Given the description of an element on the screen output the (x, y) to click on. 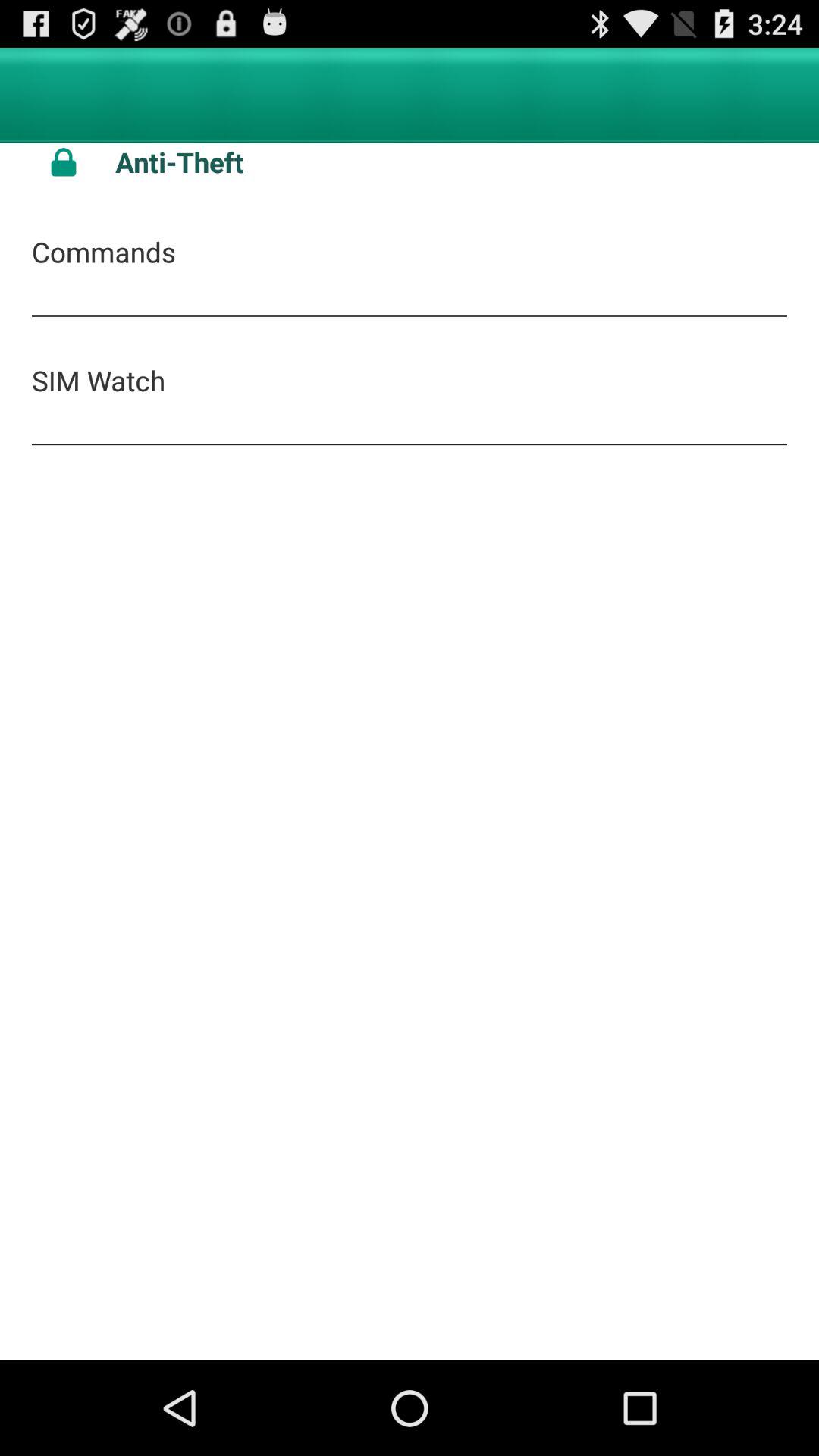
turn on the sim watch app (98, 380)
